Given the description of an element on the screen output the (x, y) to click on. 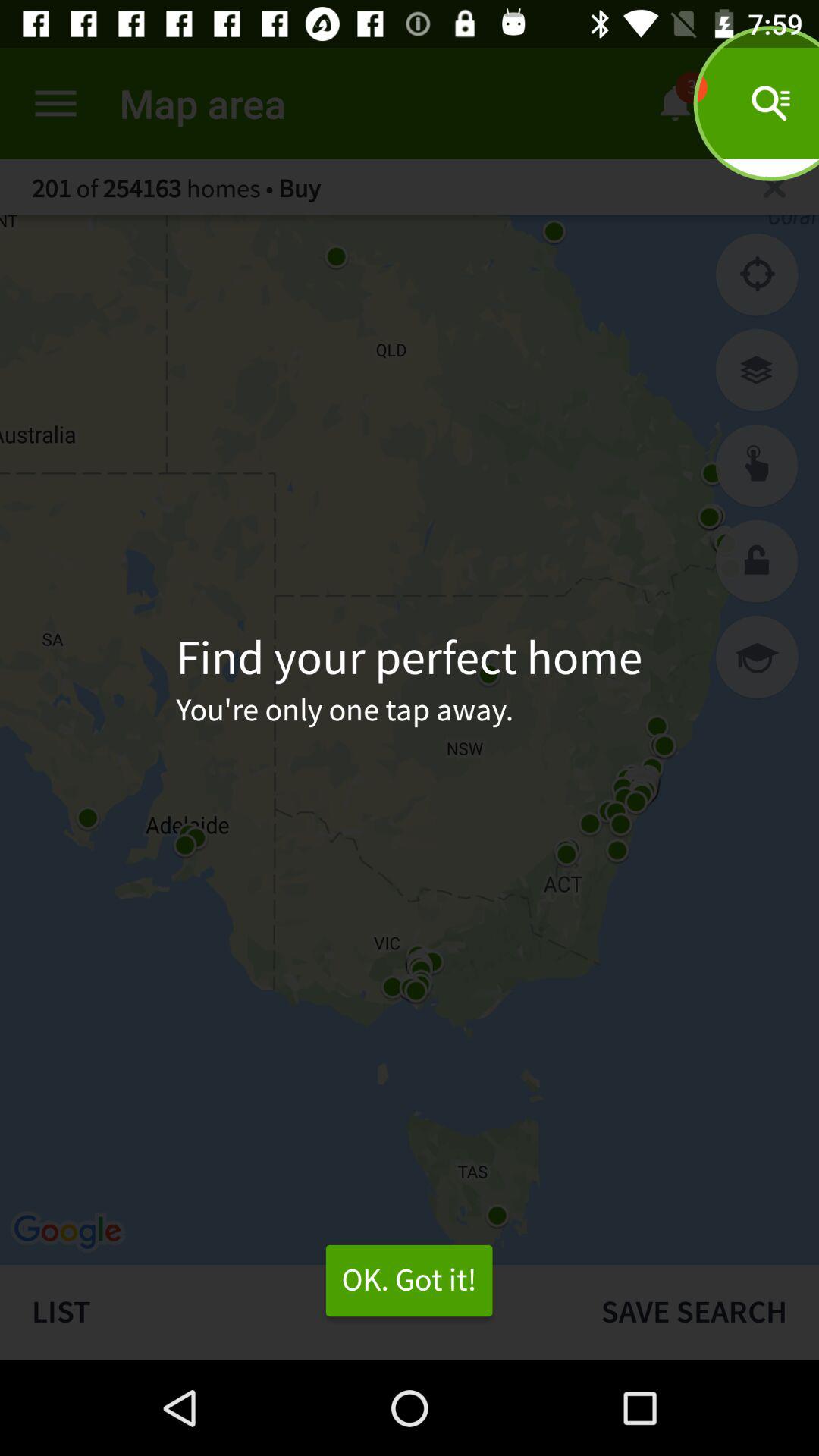
click icon to the left of save search icon (408, 1280)
